Given the description of an element on the screen output the (x, y) to click on. 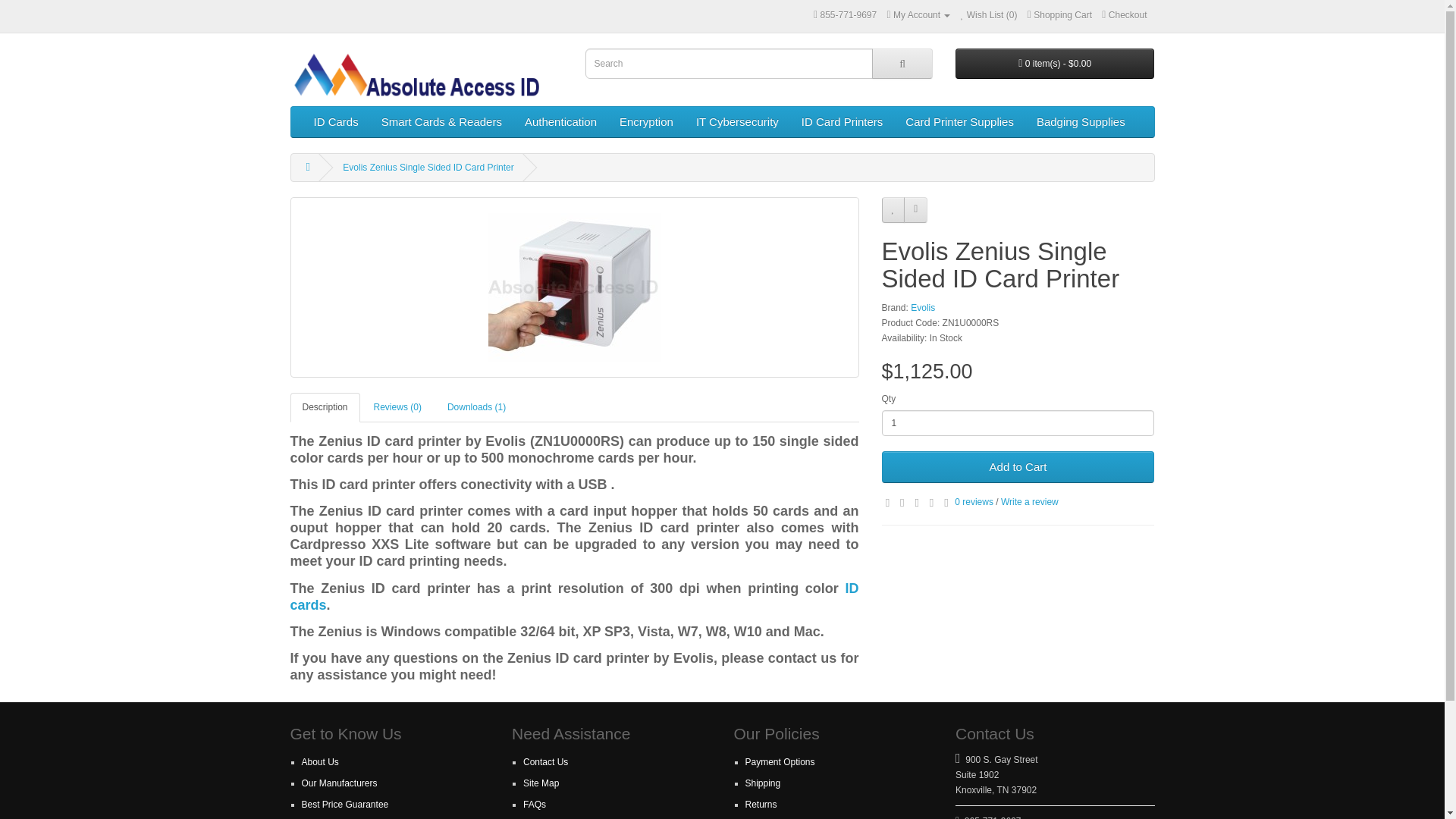
Shopping Cart (1059, 14)
Checkout (1124, 14)
ID Cards (335, 122)
Checkout (1124, 14)
Authentication (560, 122)
Shopping Cart (1059, 14)
My Account (918, 14)
ID Card Printers (842, 122)
Absolute Access ID, LLC (425, 73)
IT Cybersecurity (737, 122)
